Given the description of an element on the screen output the (x, y) to click on. 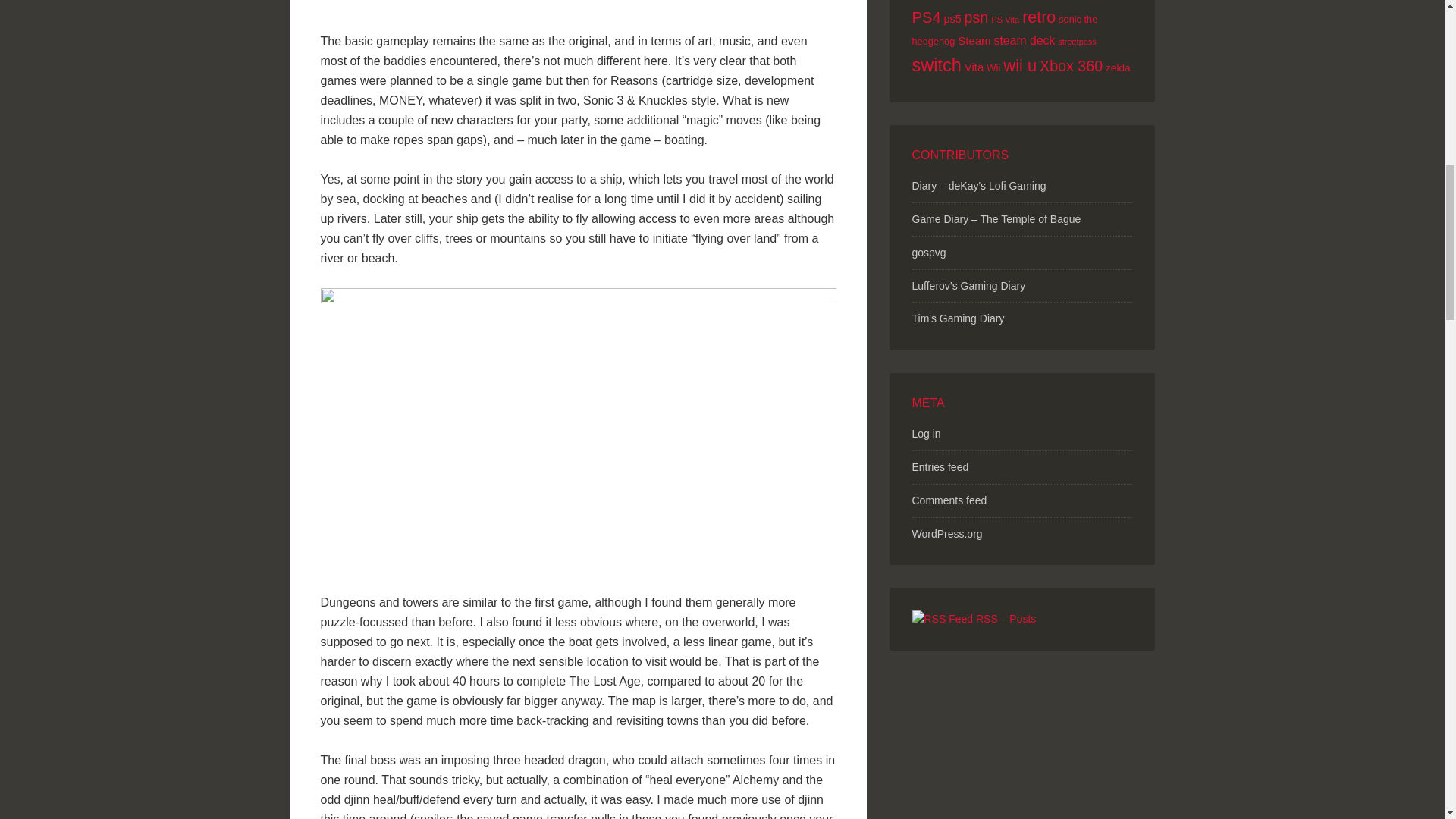
I play all the games I play all the games. (978, 185)
I play games and sometimes write about them (957, 318)
Subscribe to posts (973, 618)
